Given the description of an element on the screen output the (x, y) to click on. 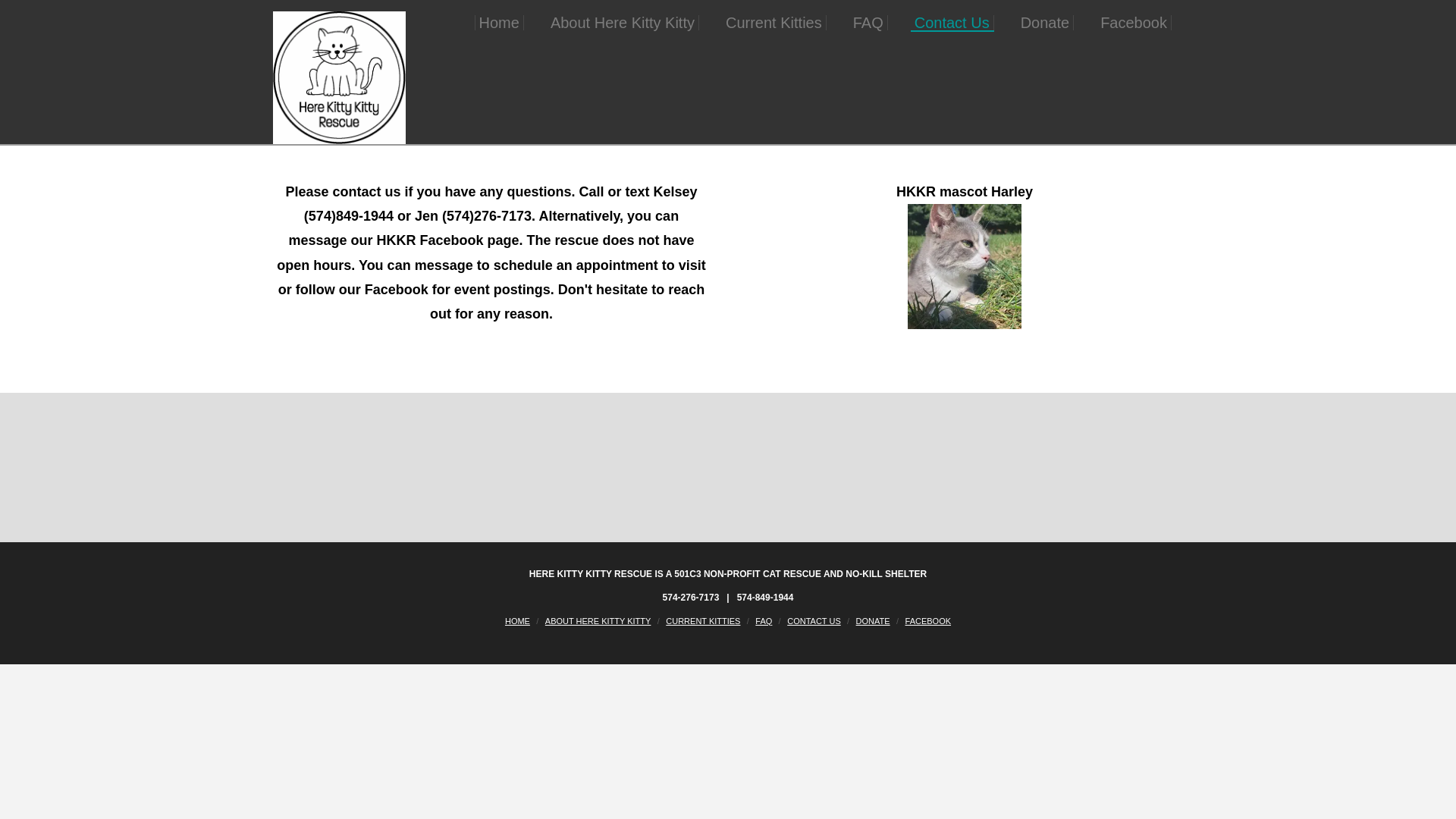
Current Kitties (774, 22)
About Here Kitty Kitty (622, 22)
DONATE (872, 620)
ABOUT HERE KITTY KITTY (597, 620)
FAQ (868, 22)
CONTACT US (814, 620)
Home (499, 22)
FAQ (763, 620)
CURRENT KITTIES (702, 620)
FACEBOOK (928, 620)
Facebook (1134, 22)
Donate (1045, 22)
Contact Us (952, 22)
HOME (517, 620)
